Given the description of an element on the screen output the (x, y) to click on. 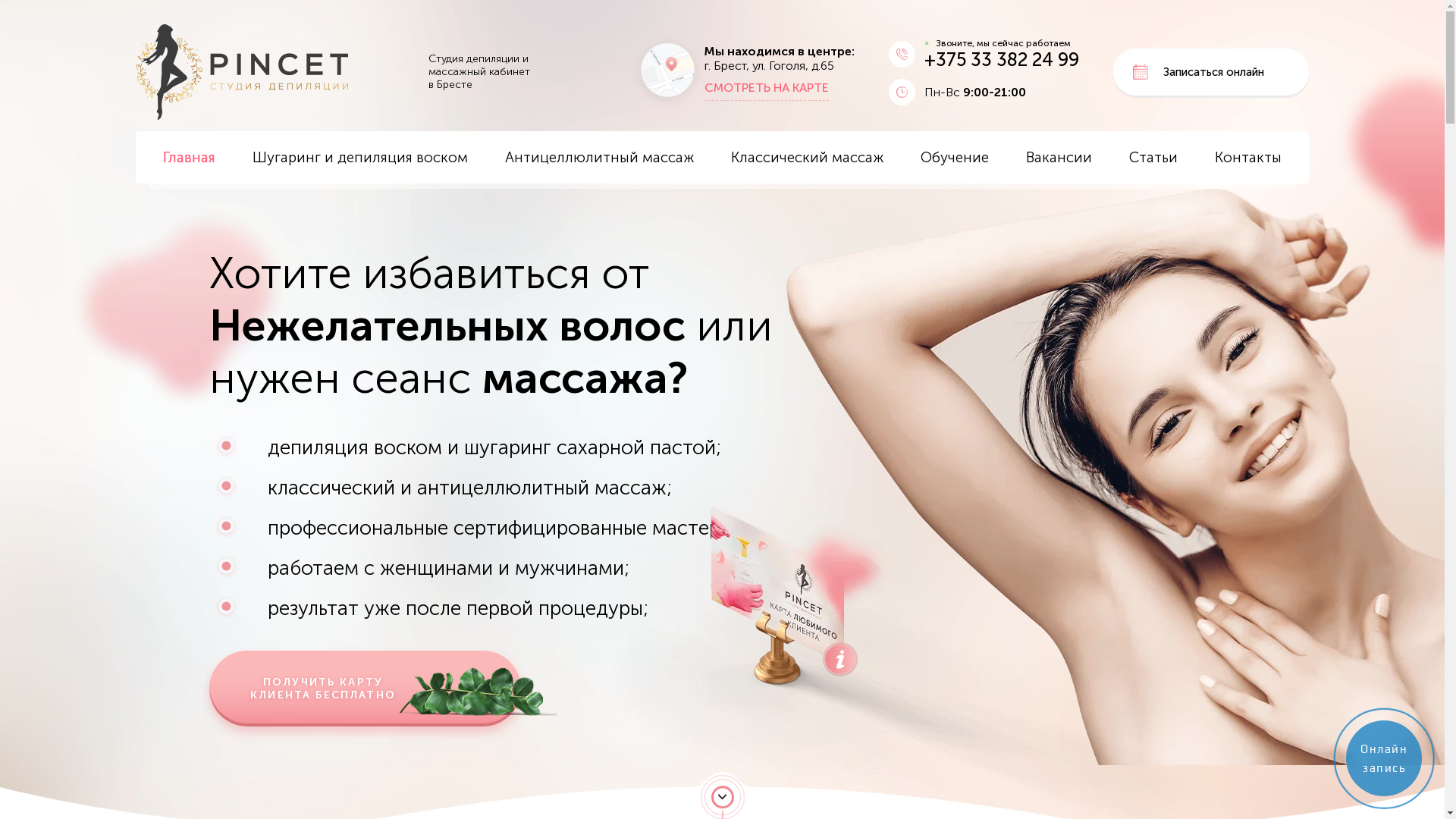
+375 33 382 24 99 Element type: text (1001, 59)
